Given the description of an element on the screen output the (x, y) to click on. 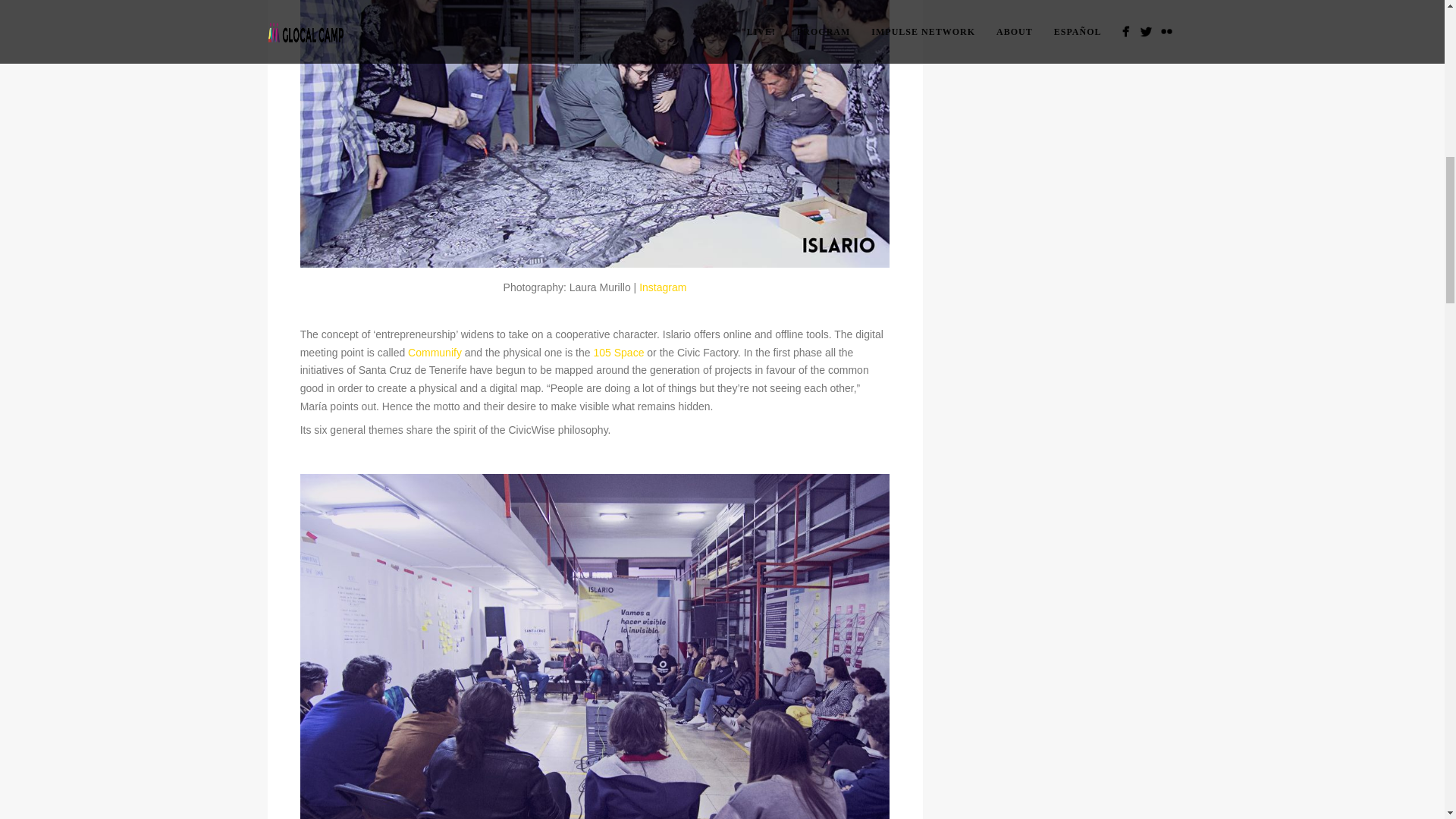
Instagram (662, 287)
105 Space (617, 352)
Communify (434, 352)
